Given the description of an element on the screen output the (x, y) to click on. 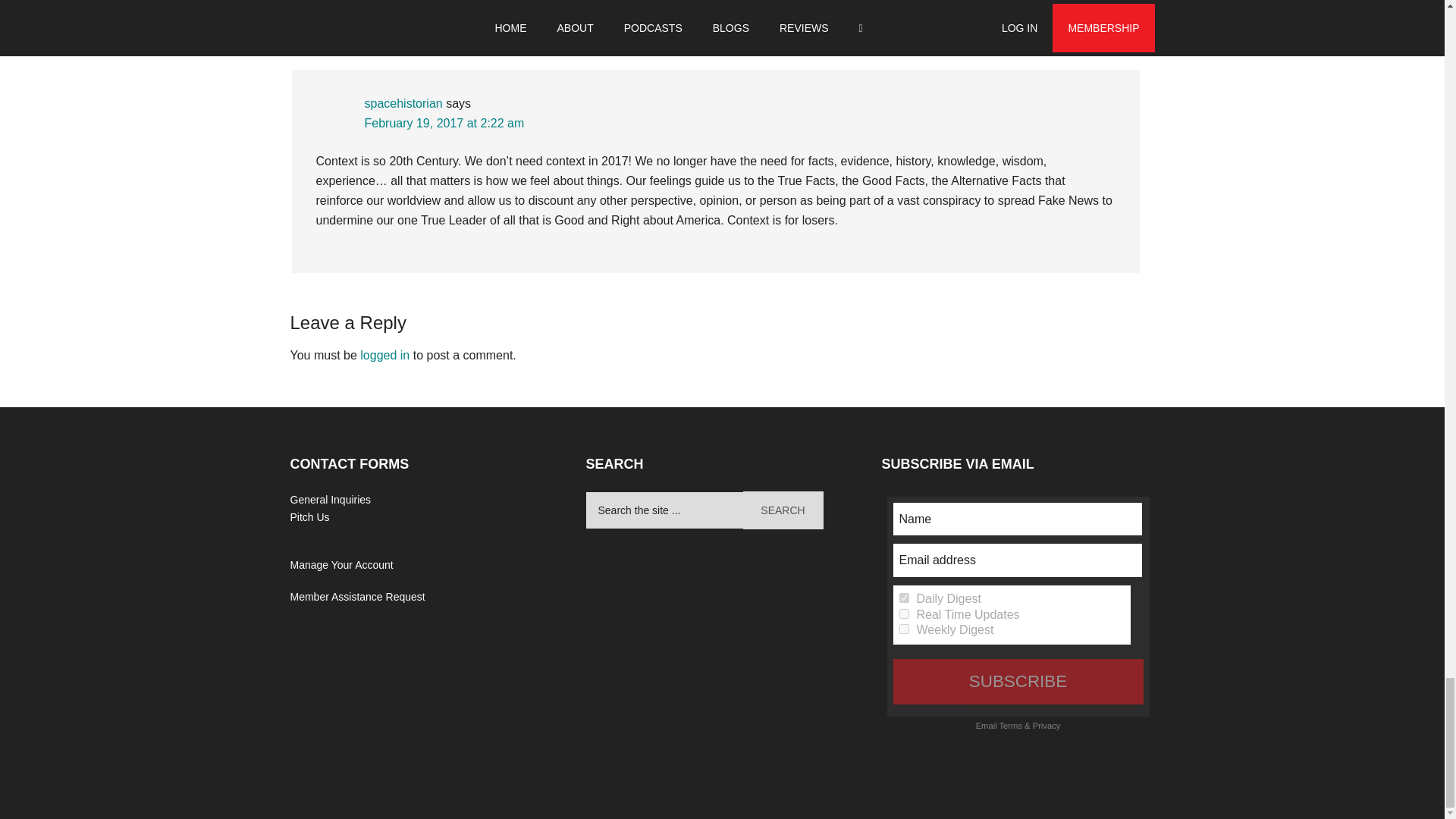
Email subscriptions privacy policy (1046, 725)
Search (783, 510)
1122538 (903, 614)
Frequency (903, 628)
Email subscriptions terms of service (1010, 725)
Search (783, 510)
SUBSCRIBE (1017, 681)
SUBSCRIBE (1017, 681)
Email address (1017, 559)
1122541 (903, 628)
